Given the description of an element on the screen output the (x, y) to click on. 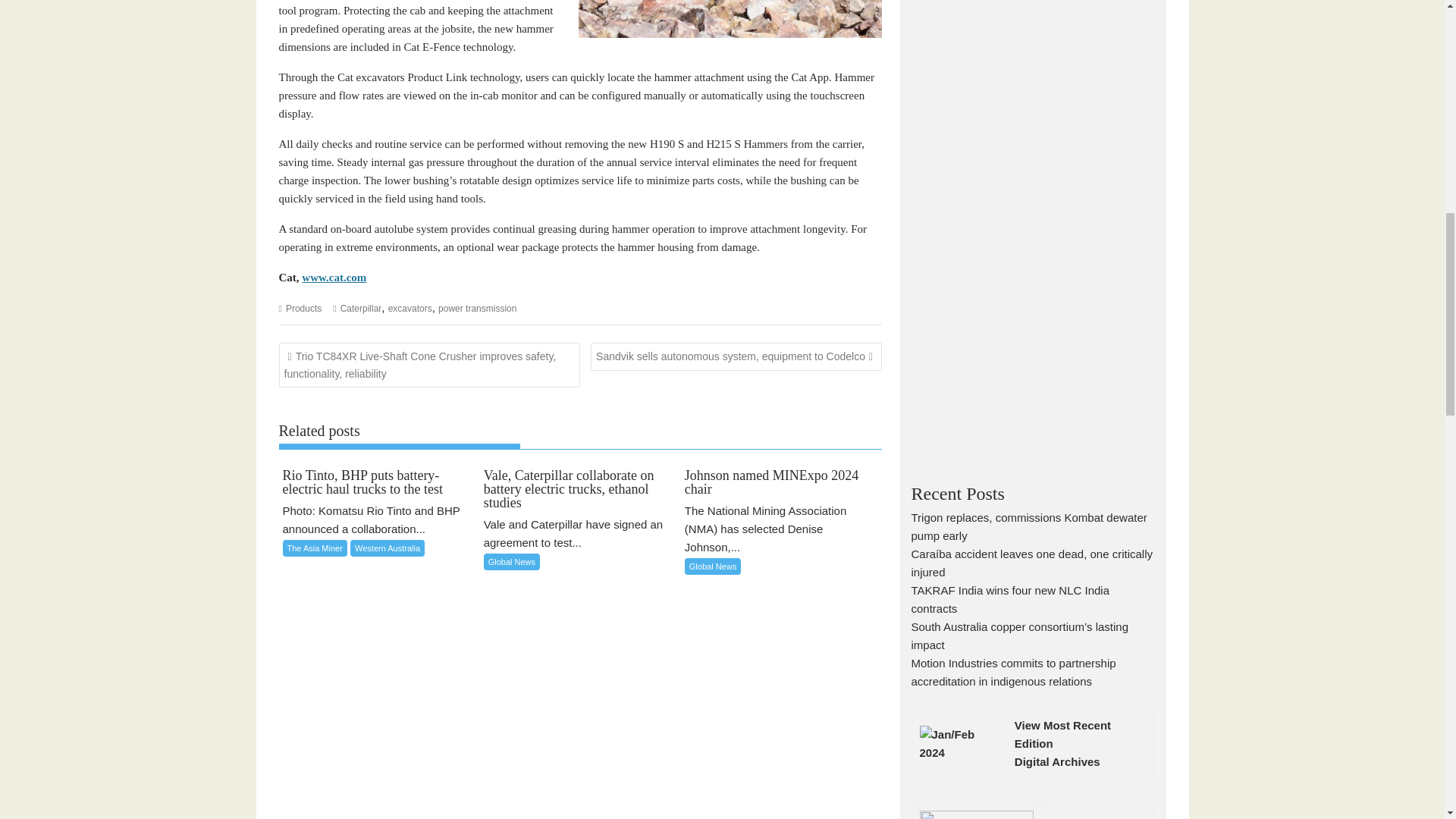
excavators (410, 308)
Rio Tinto, BHP puts battery-electric haul trucks to the test (379, 482)
Products (303, 308)
Sandvik sells autonomous system, equipment to Codelco (736, 357)
The Asia Miner (314, 547)
North American Mining Products Current Issue (1057, 761)
www.cat.com (333, 277)
Johnson named MINExpo 2024 chair (780, 482)
Caterpillar (360, 308)
Western Australia (387, 547)
Global News (511, 561)
North American Mining Products Current Issue (1062, 734)
power transmission (477, 308)
